Given the description of an element on the screen output the (x, y) to click on. 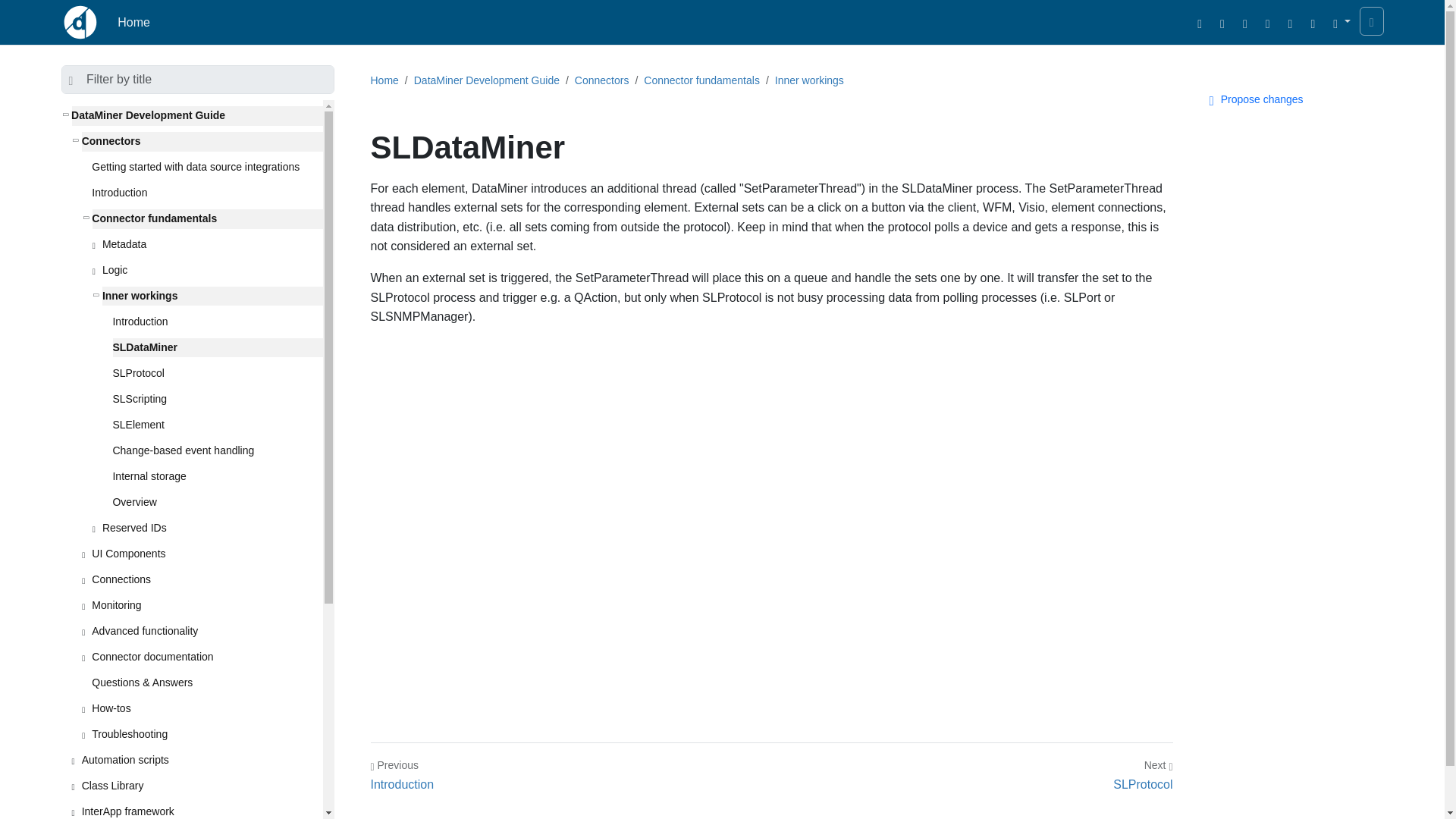
Connector fundamentals (206, 219)
Getting started with data source integrations (206, 167)
Connectors (202, 141)
Metadata (212, 244)
Introduction (206, 193)
Home (133, 22)
Change theme (1340, 22)
DataMiner Development Guide (196, 116)
